Given the description of an element on the screen output the (x, y) to click on. 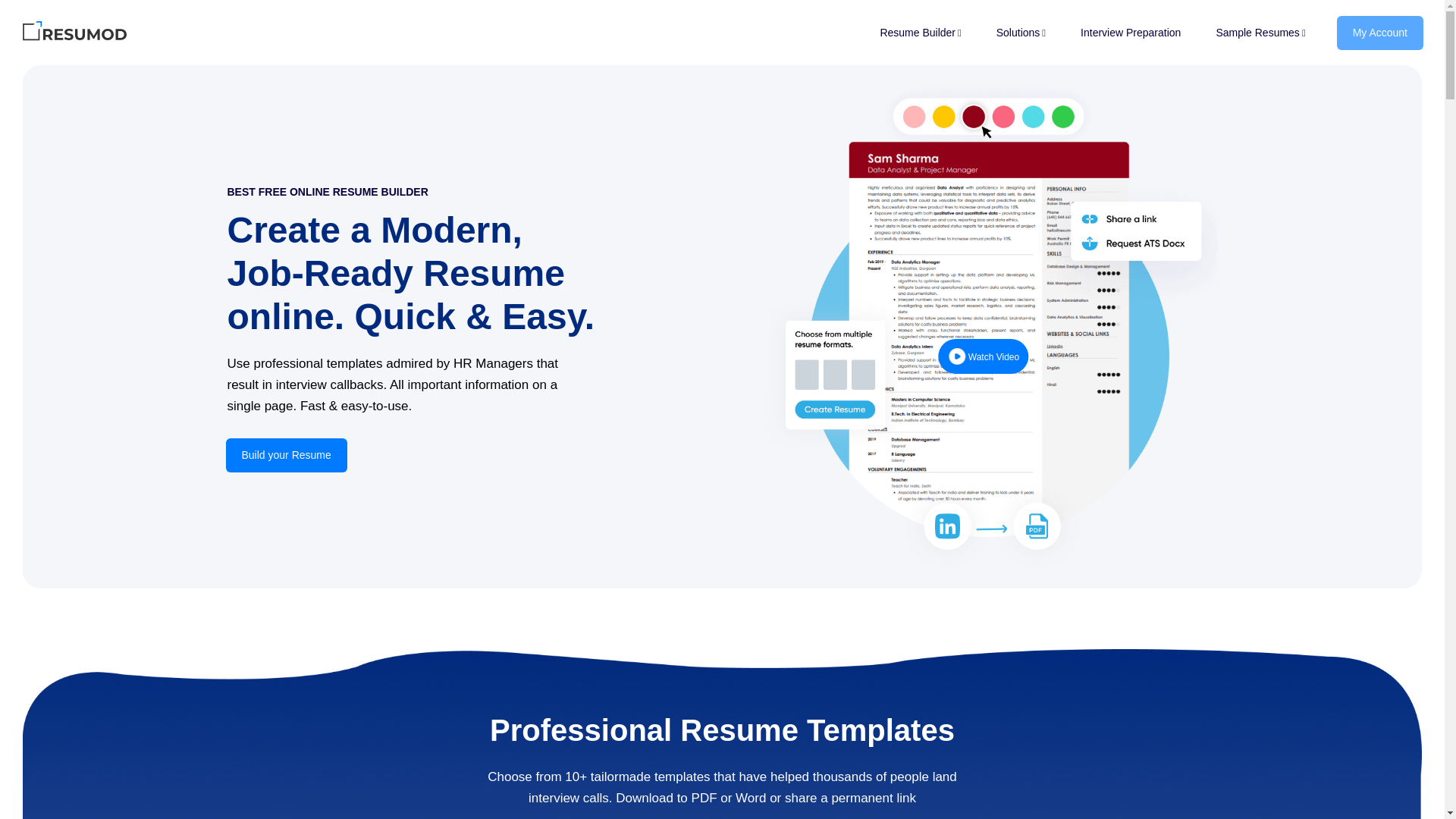
Sample Resumes (1260, 32)
Interview Preparation (1130, 32)
My Account (1380, 31)
Watch Video (983, 357)
Resume Builder (919, 32)
Solutions (1021, 32)
My Account (1372, 31)
Resumod Logo (75, 32)
Build your Resume (286, 454)
